Given the description of an element on the screen output the (x, y) to click on. 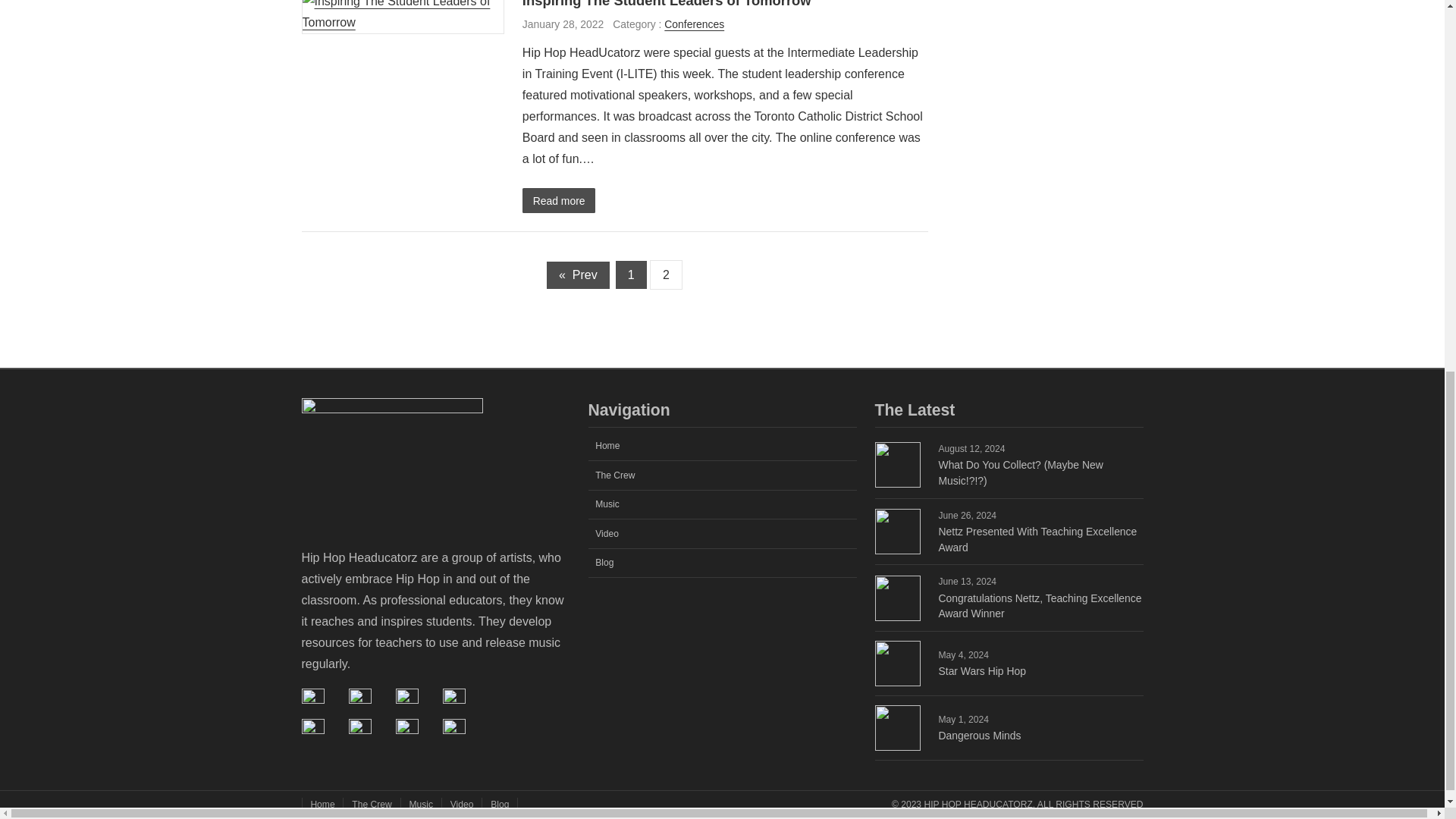
1 (630, 275)
Inspiring The Student Leaders of Tomorrow (666, 5)
Conferences (693, 24)
Read more (558, 200)
